Given the description of an element on the screen output the (x, y) to click on. 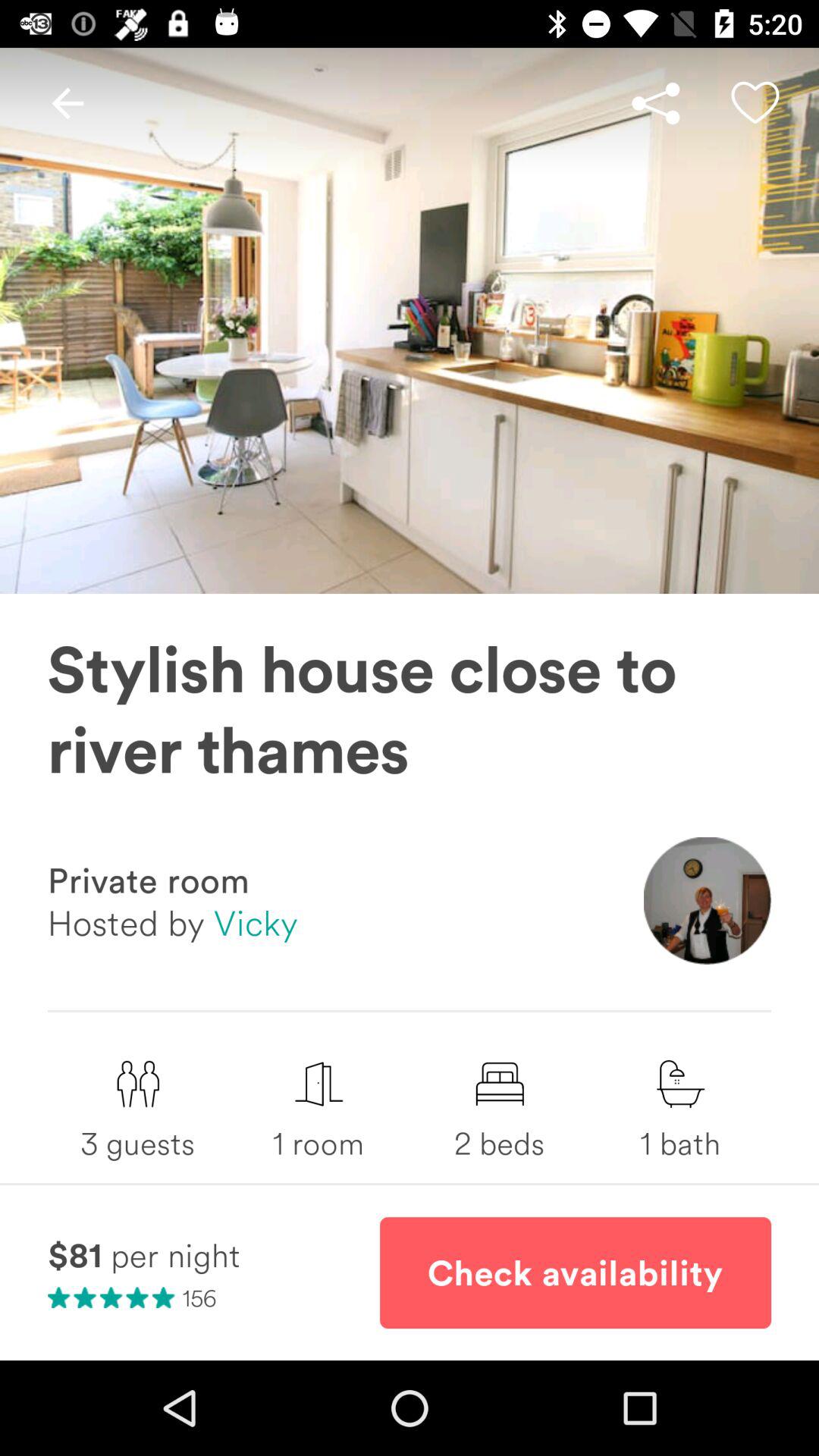
click the hosted by vicky item (172, 922)
